Given the description of an element on the screen output the (x, y) to click on. 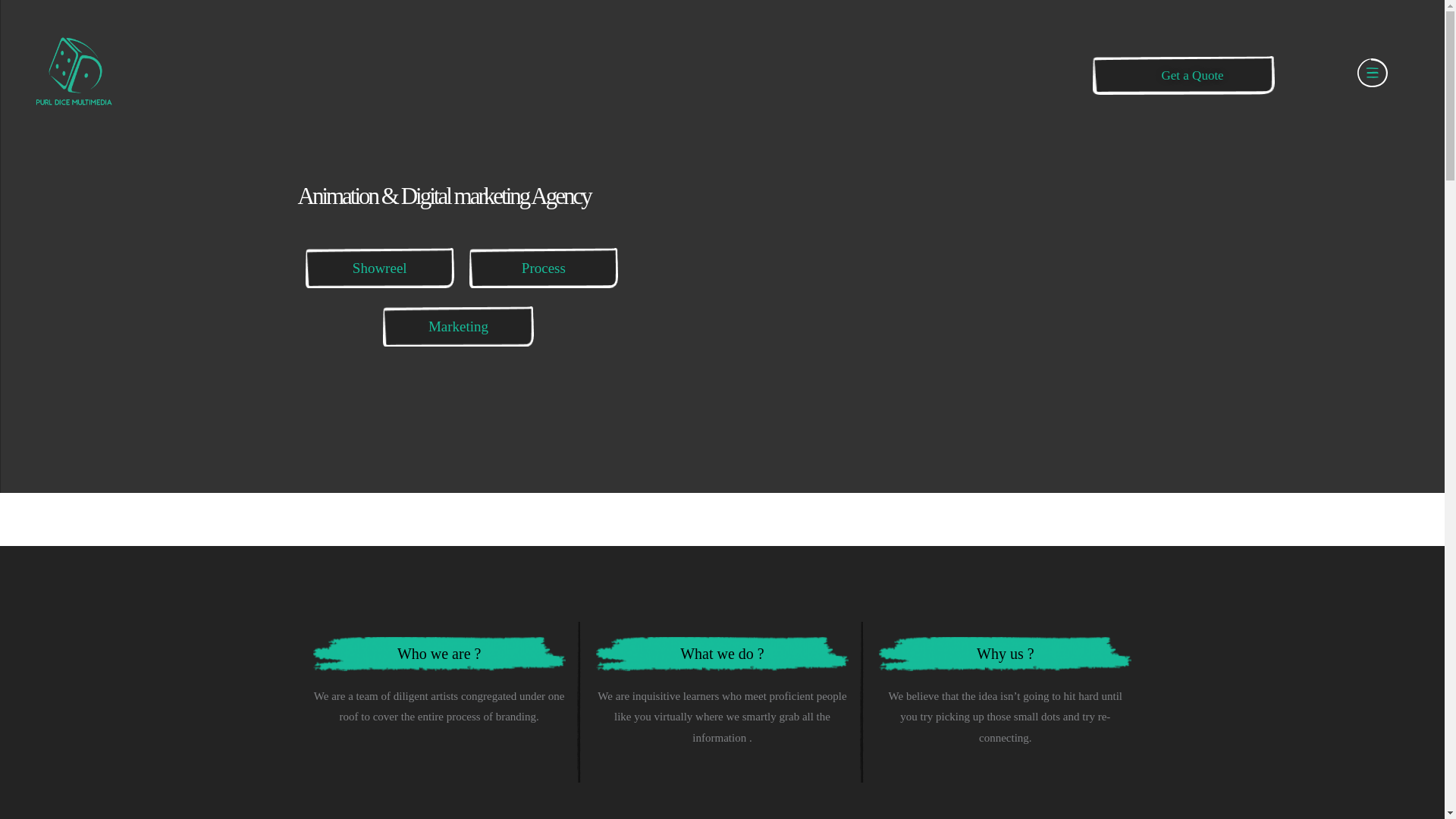
Marketing (457, 326)
Process (543, 268)
Showreel (379, 268)
Get a Quote (1207, 75)
